Given the description of an element on the screen output the (x, y) to click on. 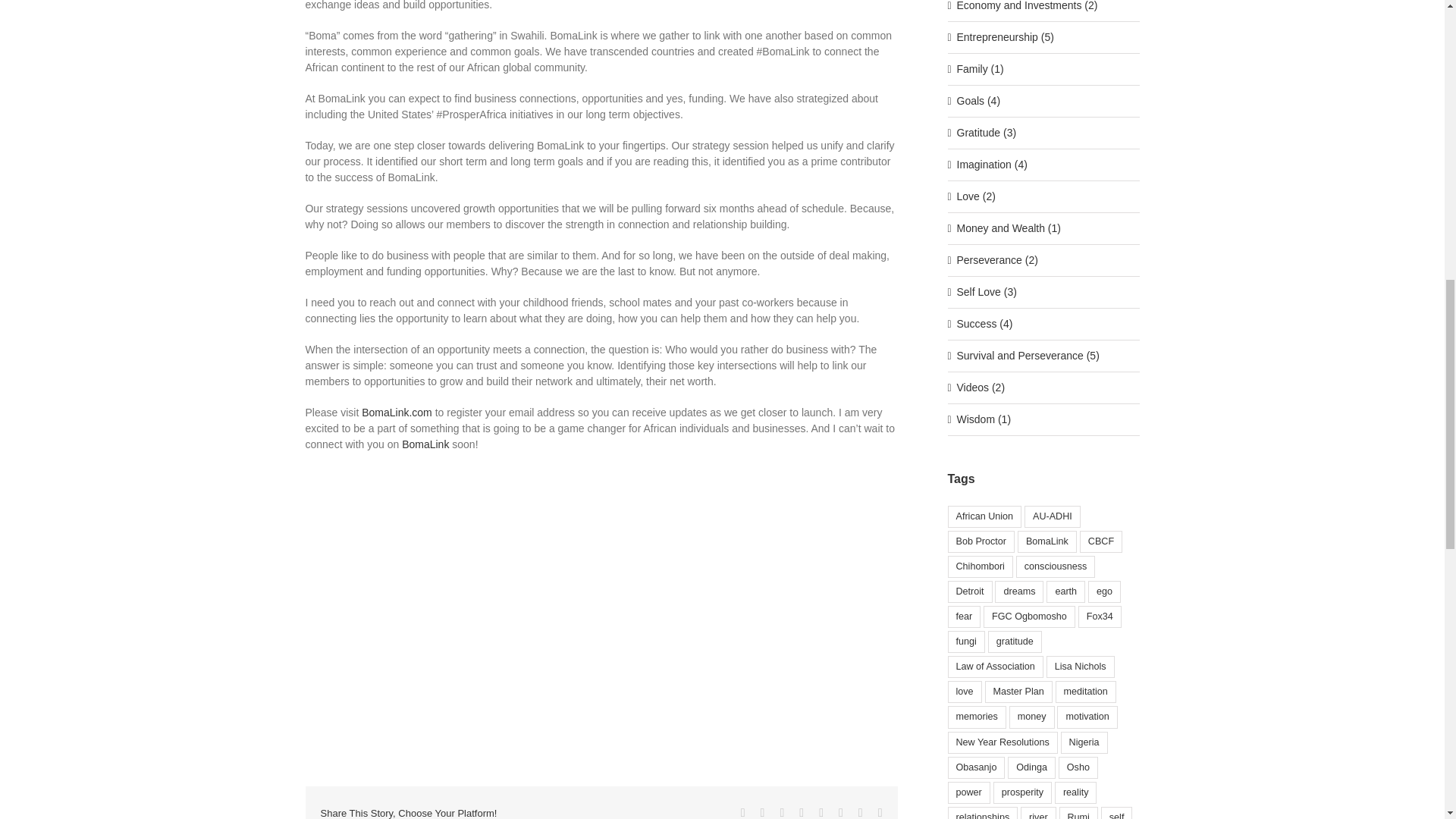
YouTube video player 1 (601, 604)
BomaLink.com (396, 412)
BomaLink (424, 444)
